Given the description of an element on the screen output the (x, y) to click on. 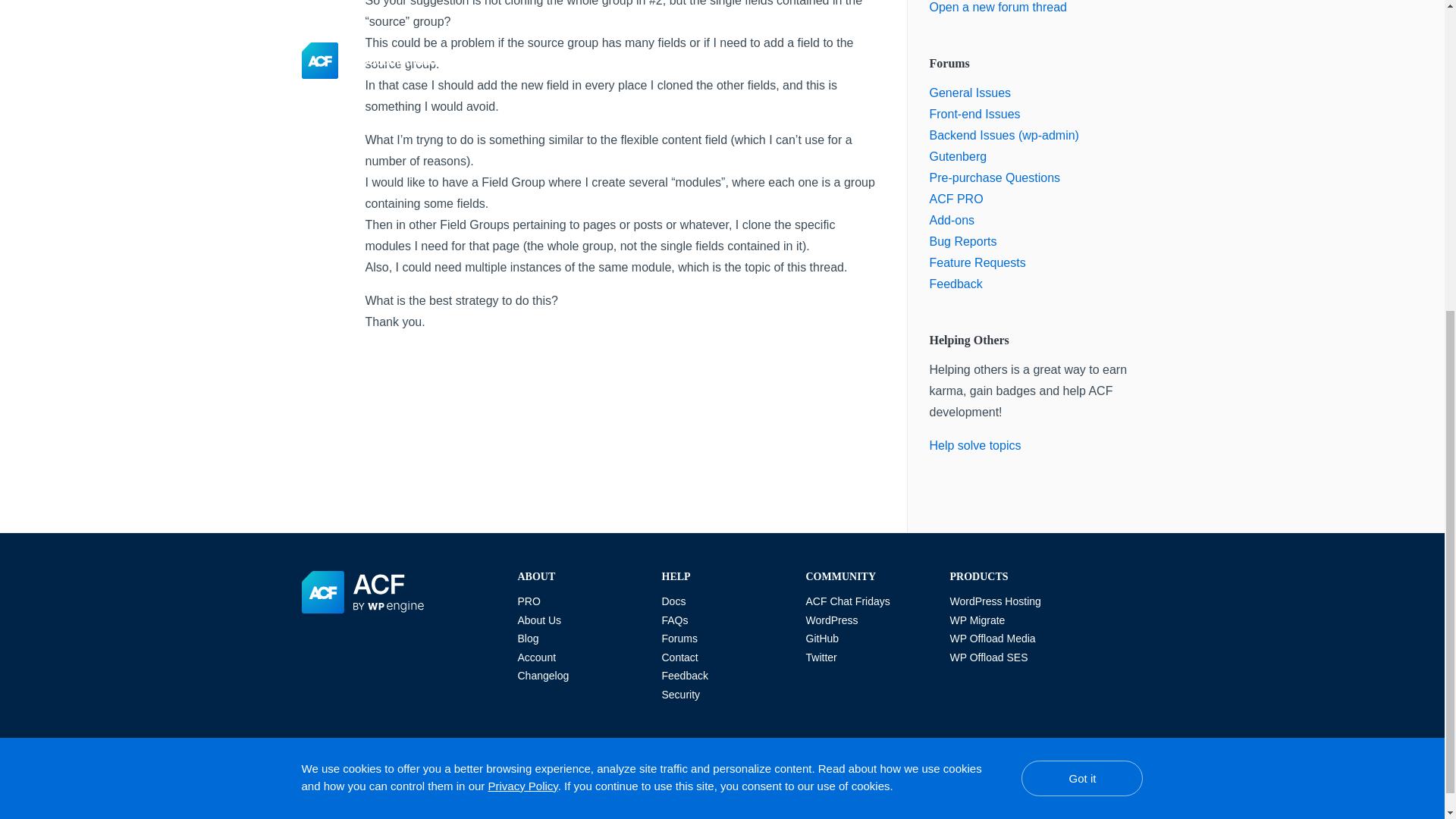
Pre-purchase Questions (995, 177)
Changelog (542, 675)
Help solve topics (976, 445)
Feedback (956, 283)
PRO (528, 601)
Add-ons (952, 219)
Docs (673, 601)
General Issues (970, 92)
About Us (538, 620)
ACF PRO (957, 198)
Feature Requests (978, 262)
Bug Reports (963, 241)
Front-end Issues (975, 113)
Account (536, 657)
Open a new forum thread (998, 6)
